Given the description of an element on the screen output the (x, y) to click on. 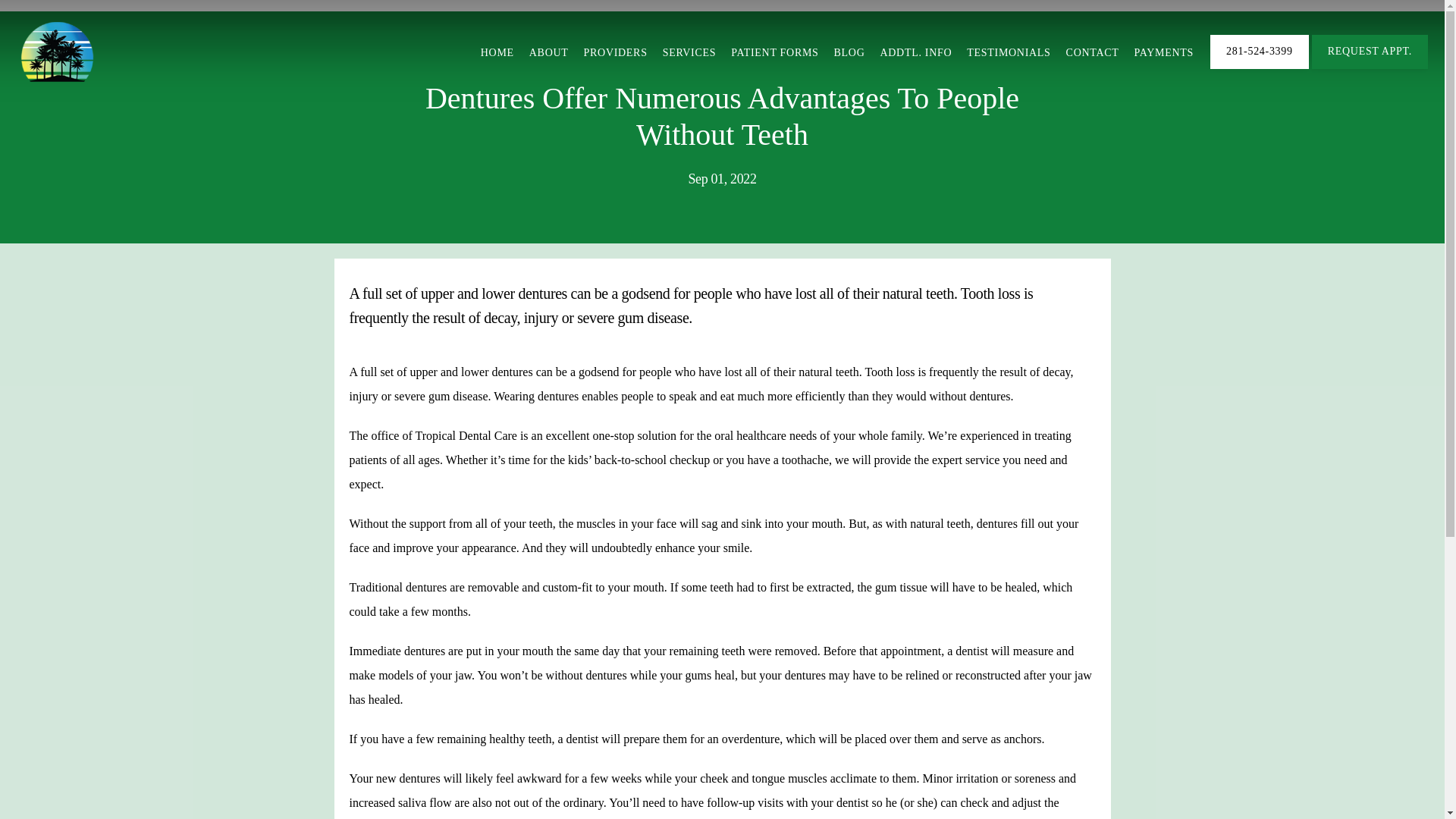
ABOUT (549, 52)
CONTACT (1092, 52)
PATIENT FORMS (774, 52)
281-524-3399 (1259, 67)
SERVICES (689, 52)
PROVIDERS (615, 52)
REQUEST APPT. (1369, 67)
PAYMENTS (1163, 52)
HOME (496, 52)
TESTIMONIALS (1007, 52)
